Given the description of an element on the screen output the (x, y) to click on. 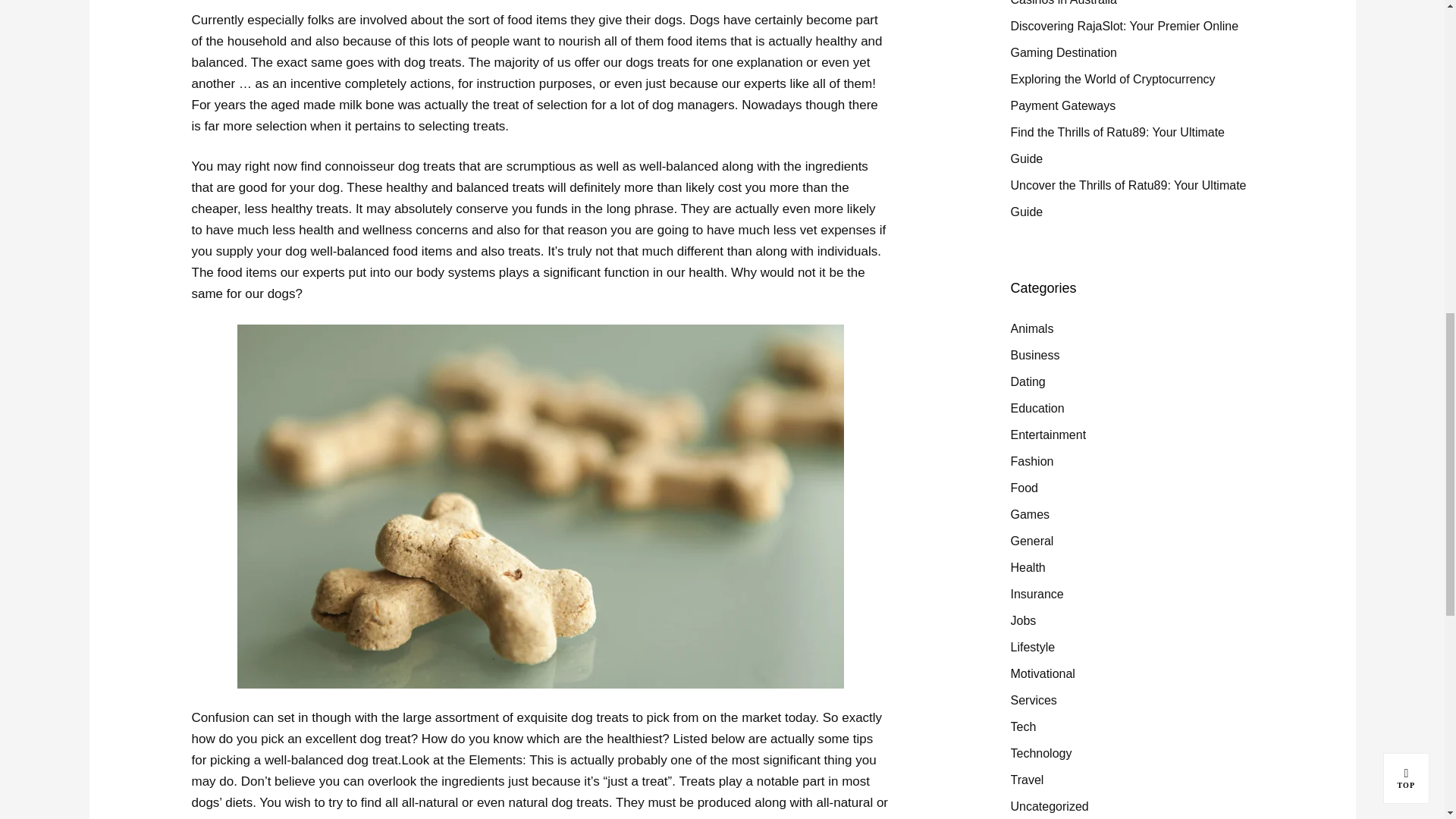
Jobs (1022, 620)
Fashion (1031, 461)
Discovering RajaSlot: Your Premier Online Gaming Destination (1124, 38)
Insurance (1036, 593)
Games (1029, 514)
Exploring the World of Cryptocurrency Payment Gateways (1112, 92)
Uncover the Thrills of Ratu89: Your Ultimate Guide (1128, 198)
Find the Thrills of Ratu89: Your Ultimate Guide (1117, 145)
Animals (1031, 328)
Dating (1027, 381)
Motivational (1042, 673)
Business (1034, 355)
Health (1027, 567)
Food (1023, 488)
